Given the description of an element on the screen output the (x, y) to click on. 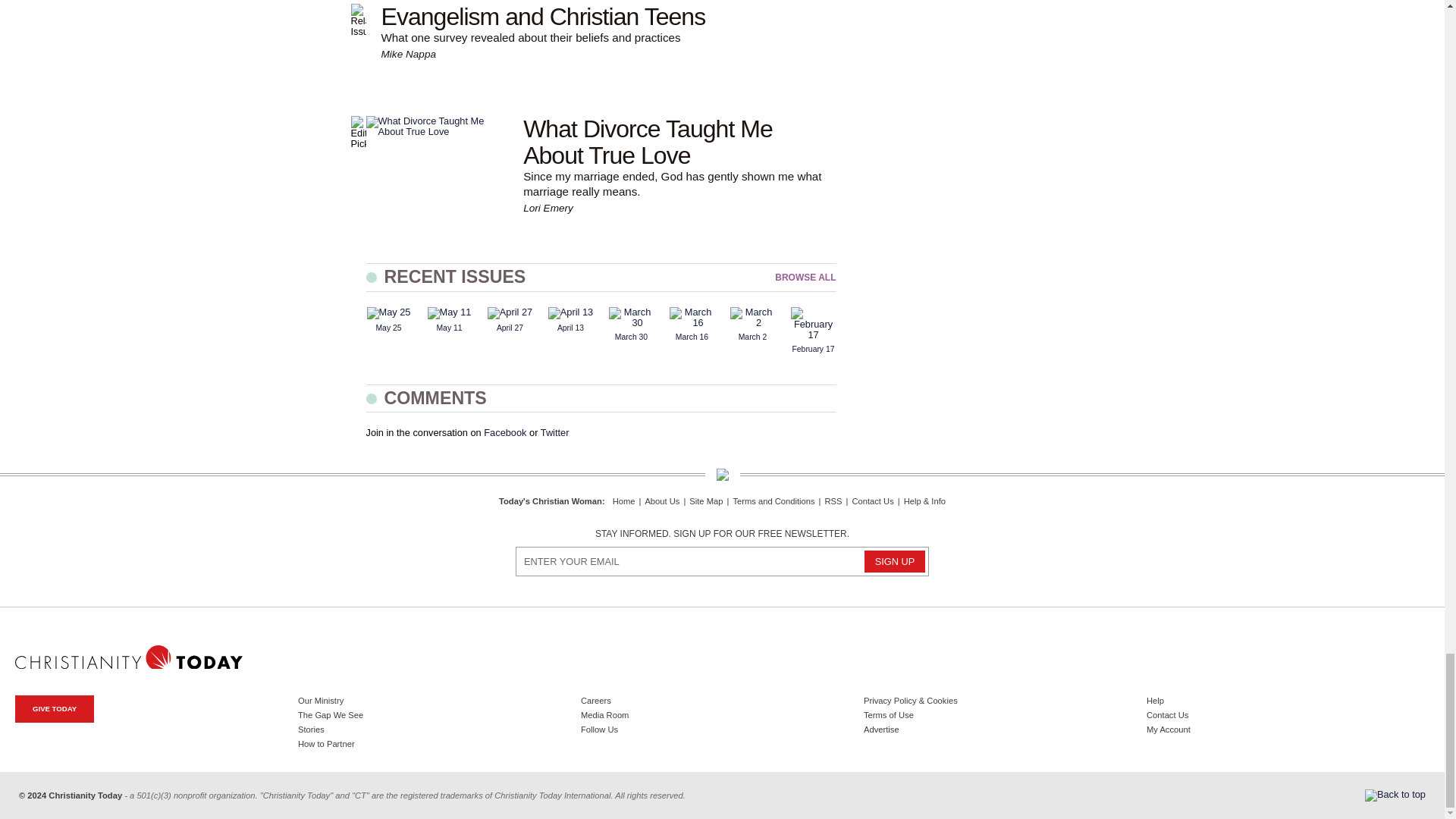
May 25 (388, 313)
March 30 (630, 317)
March 16 (691, 317)
Sign Up (894, 561)
March 2 (751, 317)
April 27 (509, 313)
May 11 (449, 313)
April 13 (570, 313)
What Divorce Taught Me About True Love (436, 126)
